Given the description of an element on the screen output the (x, y) to click on. 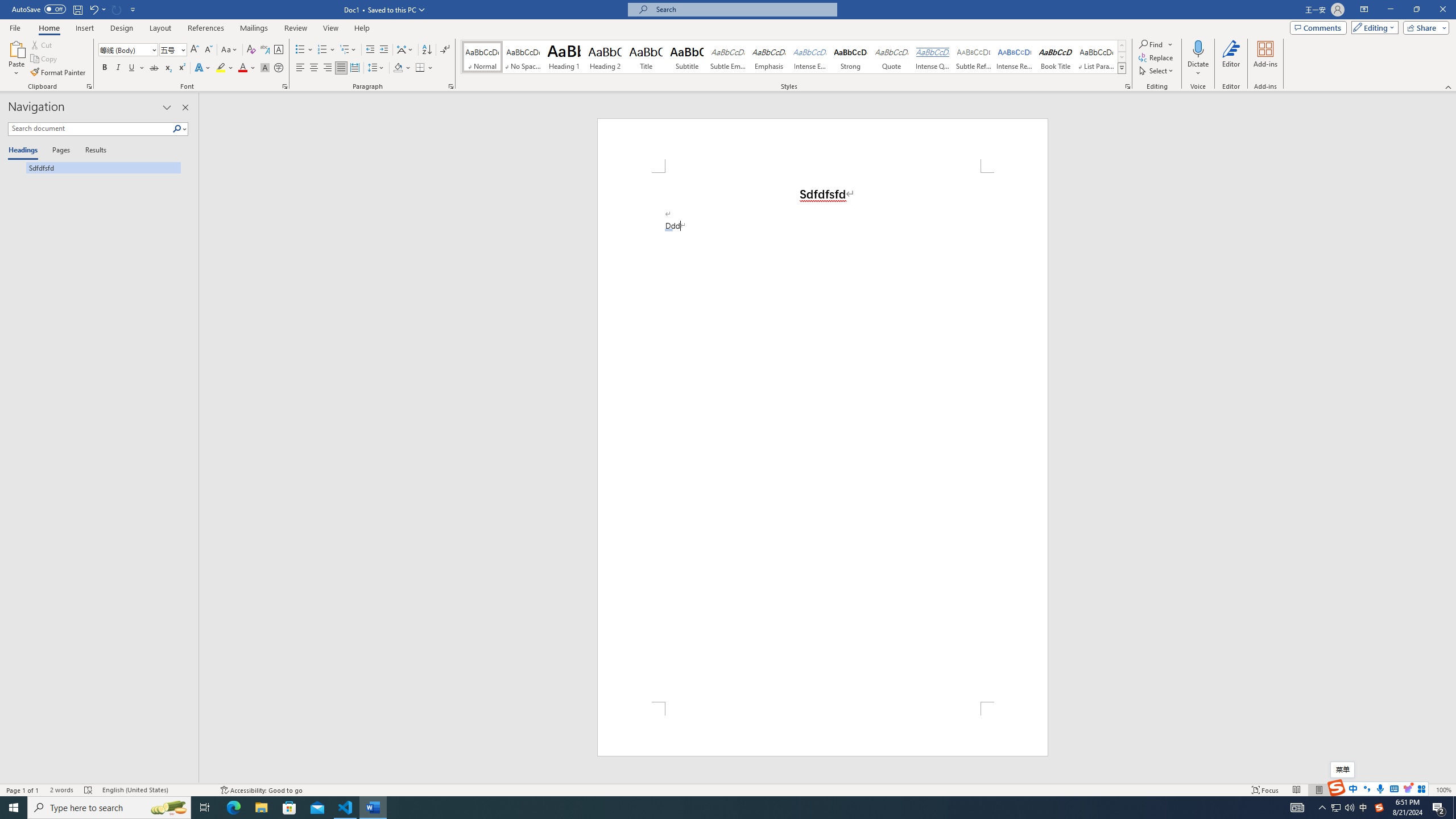
Font Color Red (241, 67)
Emphasis (768, 56)
